Given the description of an element on the screen output the (x, y) to click on. 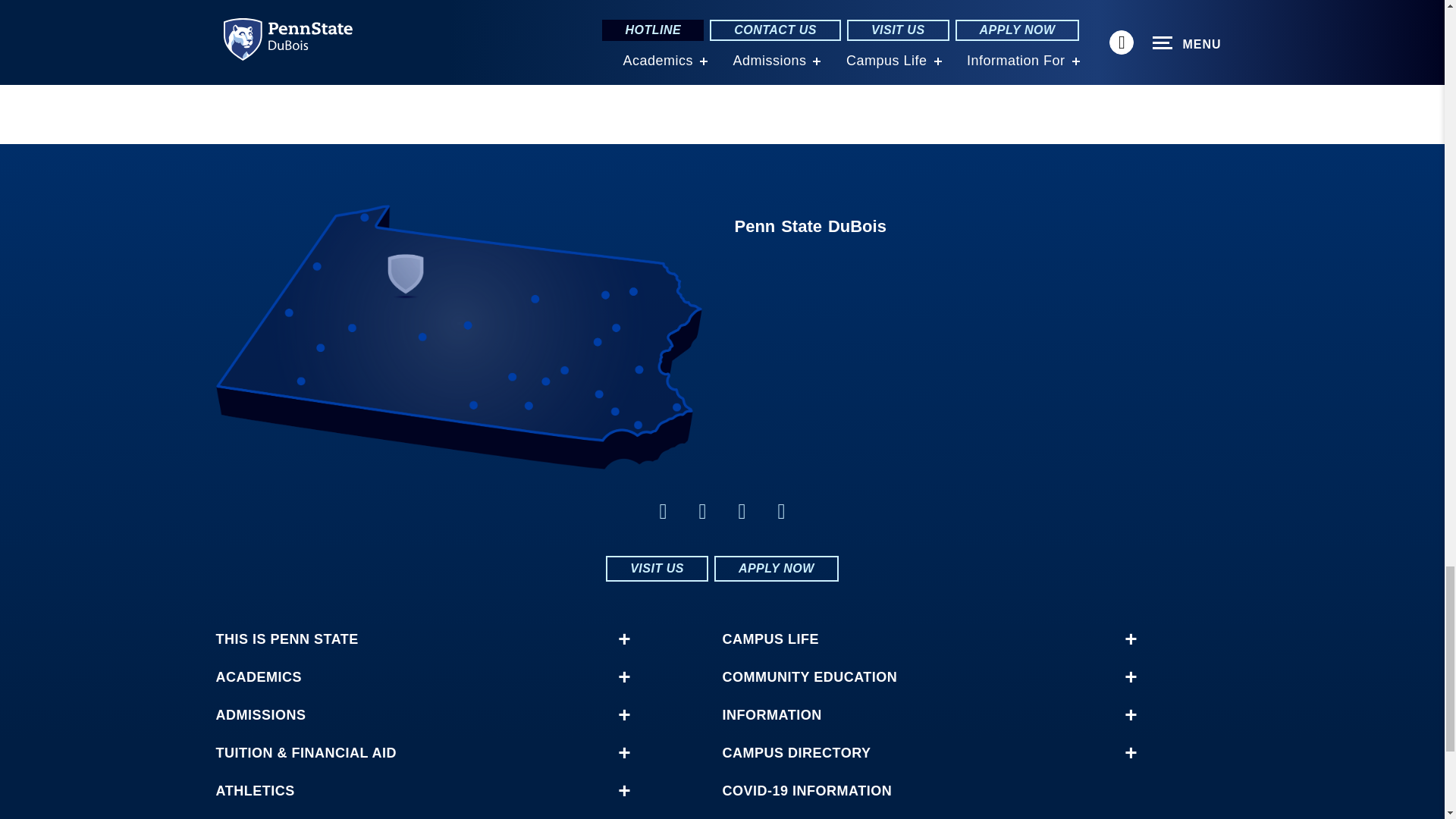
twitter (741, 511)
linkedin (702, 511)
COVID-19 Information (921, 790)
facebook (662, 511)
instagram (781, 511)
